Given the description of an element on the screen output the (x, y) to click on. 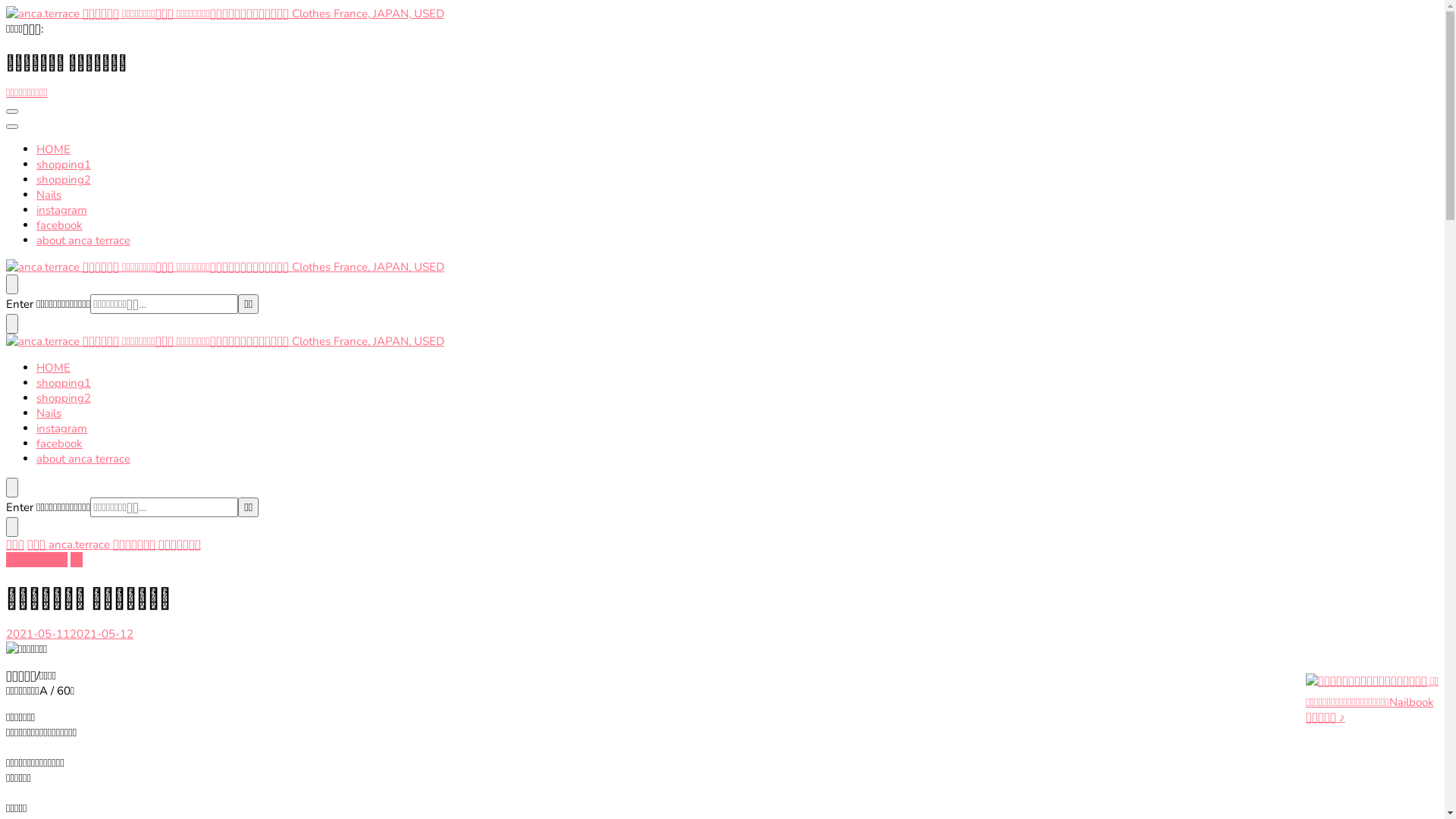
about anca terrace Element type: text (83, 239)
shopping2 Element type: text (63, 397)
instagram Element type: text (61, 209)
shopping1 Element type: text (63, 164)
about anca terrace Element type: text (83, 458)
shopping2 Element type: text (63, 179)
facebook Element type: text (59, 224)
HOME Element type: text (53, 367)
anca.terrace Element type: text (36, 559)
Nails Element type: text (48, 412)
facebook Element type: text (59, 443)
2021-05-112021-05-12 Element type: text (69, 633)
shopping1 Element type: text (63, 382)
HOME Element type: text (53, 148)
Nails Element type: text (48, 194)
instagram Element type: text (61, 428)
anca.terrace Element type: text (80, 544)
